Given the description of an element on the screen output the (x, y) to click on. 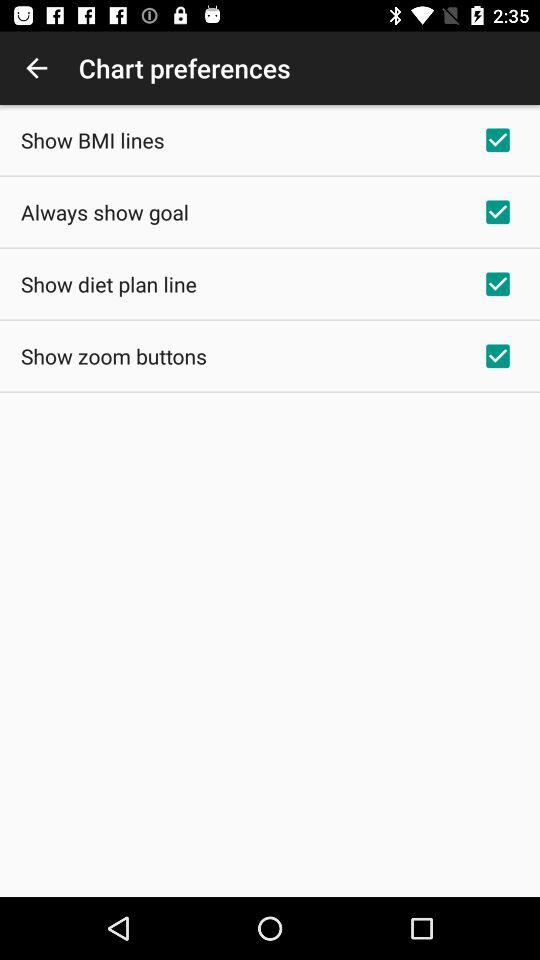
press icon above the always show goal app (92, 139)
